Given the description of an element on the screen output the (x, y) to click on. 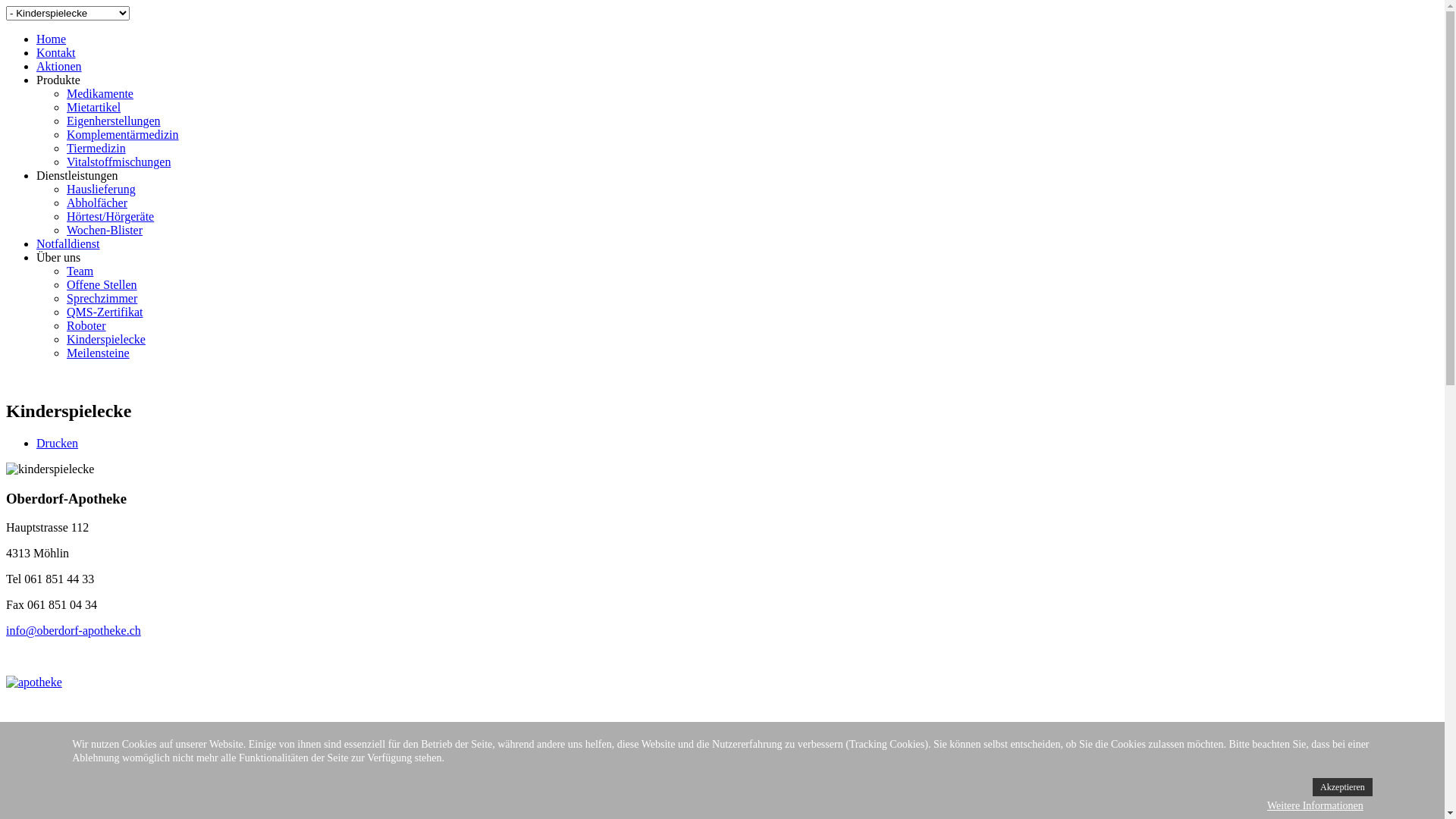
Notfalldienst Element type: text (68, 243)
Aktionen Element type: text (58, 65)
Kinderspielecke Element type: text (105, 338)
Meilensteine Element type: text (97, 352)
Eigenherstellungen Element type: text (113, 120)
Drucken Element type: text (57, 442)
Medikamente Element type: text (99, 93)
Weitere Informationen Element type: text (1315, 806)
QMS-Zertifikat Element type: text (104, 311)
Roboter Element type: text (86, 325)
Sprechzimmer Element type: text (101, 297)
Mietartikel Element type: text (93, 106)
info@oberdorf-apotheke.ch Element type: text (73, 630)
Offene Stellen Element type: text (101, 284)
Home Element type: text (50, 38)
Kontakt Element type: text (55, 52)
Wochen-Blister Element type: text (104, 229)
Team Element type: text (79, 270)
Vitalstoffmischungen Element type: text (118, 161)
Hauslieferung Element type: text (100, 188)
Akzeptieren Element type: text (1342, 787)
Tiermedizin Element type: text (95, 147)
